Given the description of an element on the screen output the (x, y) to click on. 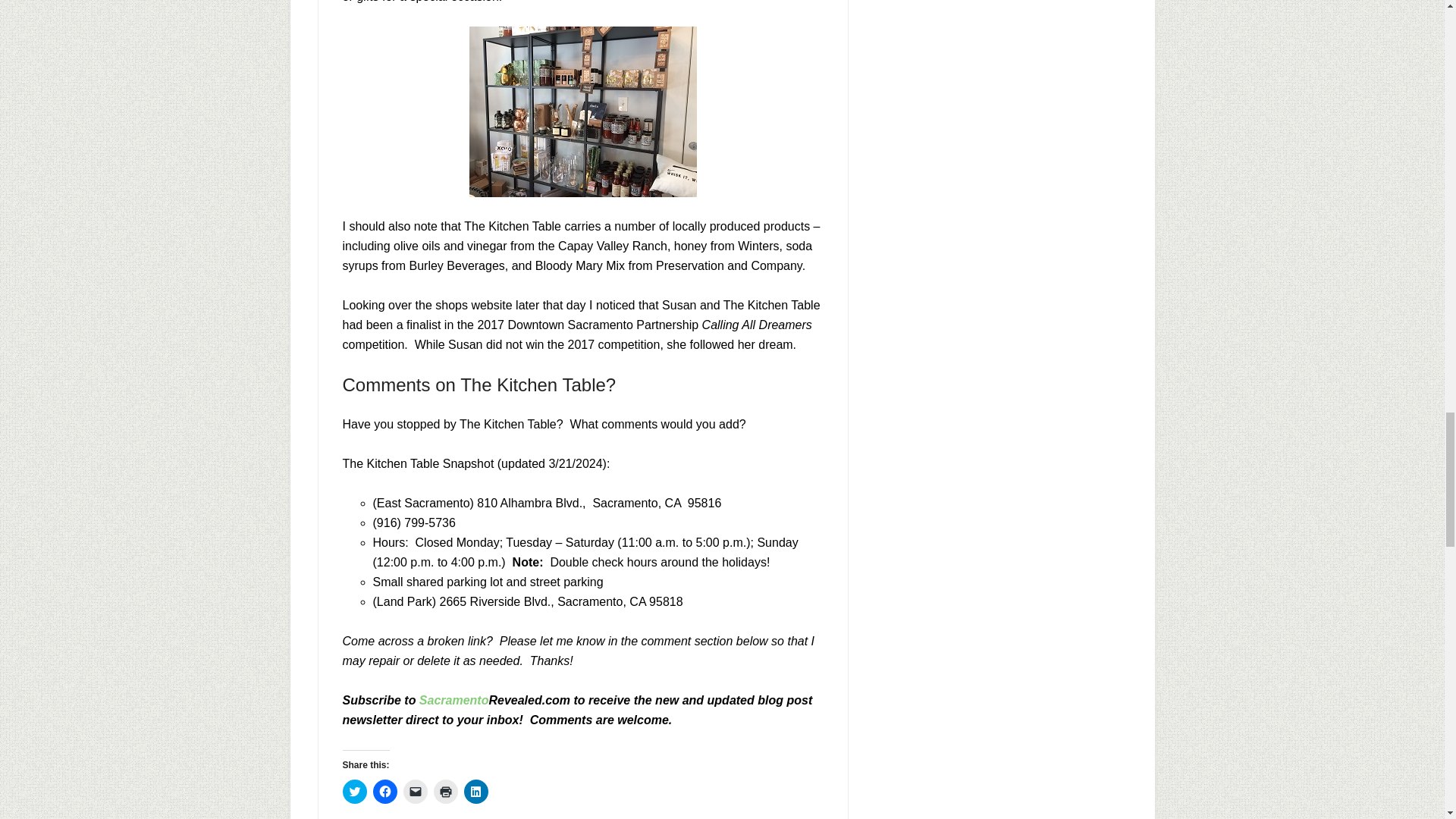
Click to share on Facebook (384, 791)
Click to email a link to a friend (415, 791)
Click to share on LinkedIn (475, 791)
Sacramento (454, 699)
Click to share on Twitter (354, 791)
Click to print (445, 791)
